Given the description of an element on the screen output the (x, y) to click on. 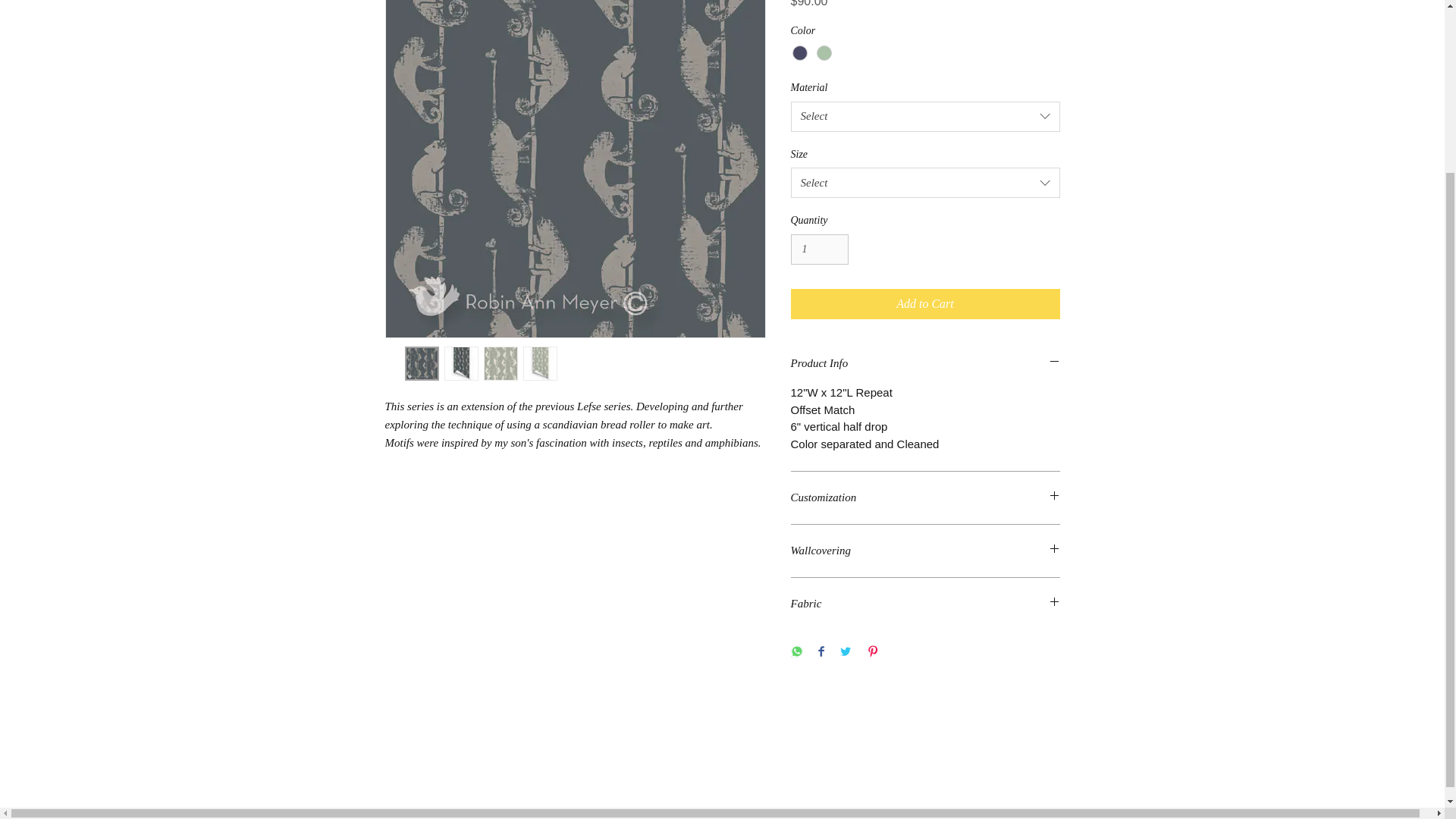
Customization (924, 497)
Add to Cart (924, 304)
Wallcovering (924, 550)
Select (924, 116)
Fabric (924, 603)
1 (818, 249)
Product Info (924, 363)
Select (924, 182)
